Given the description of an element on the screen output the (x, y) to click on. 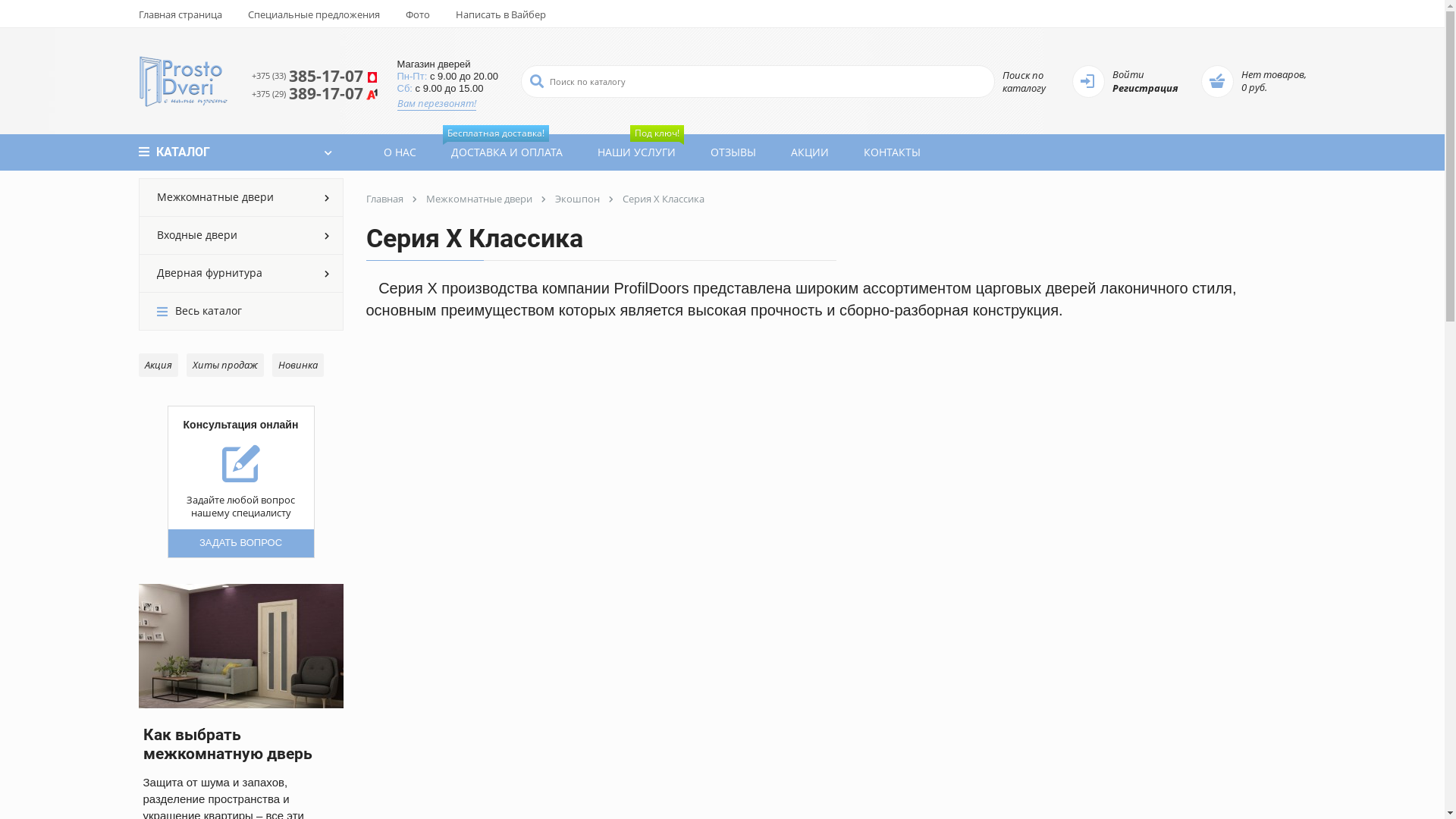
+375 (29)
389-17-07 Element type: text (314, 93)
+375 (33)
385-17-07 Element type: text (314, 75)
